Given the description of an element on the screen output the (x, y) to click on. 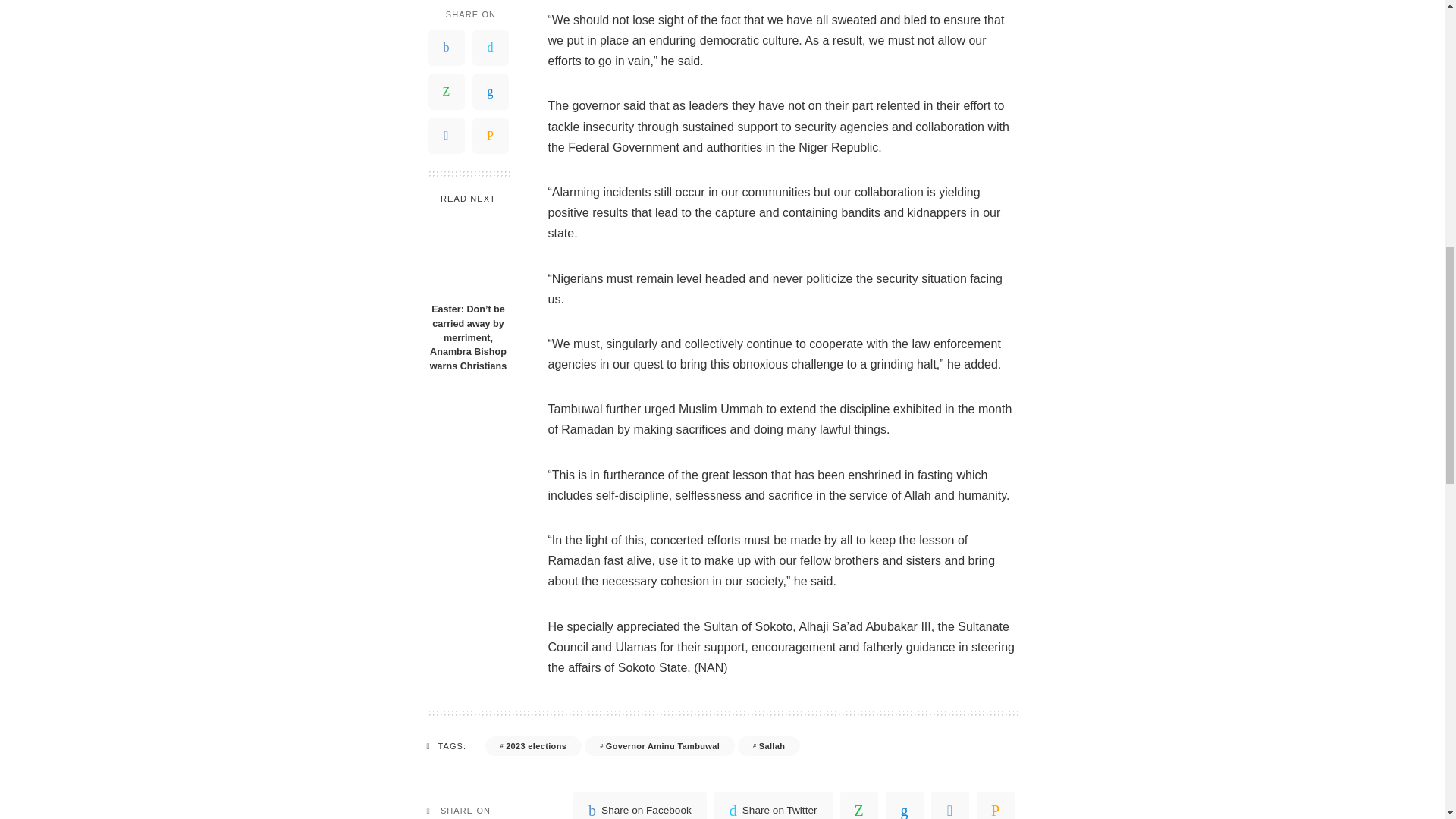
2023 elections (533, 745)
Governor Aminu Tambuwal (660, 745)
Share on Facebook (639, 805)
WhatsApp (858, 805)
Facebook (639, 805)
2023 elections (533, 745)
Sallah (768, 745)
Sallah (768, 745)
Twitter (773, 805)
Share on Twitter (773, 805)
Governor Aminu Tambuwal (660, 745)
